Given the description of an element on the screen output the (x, y) to click on. 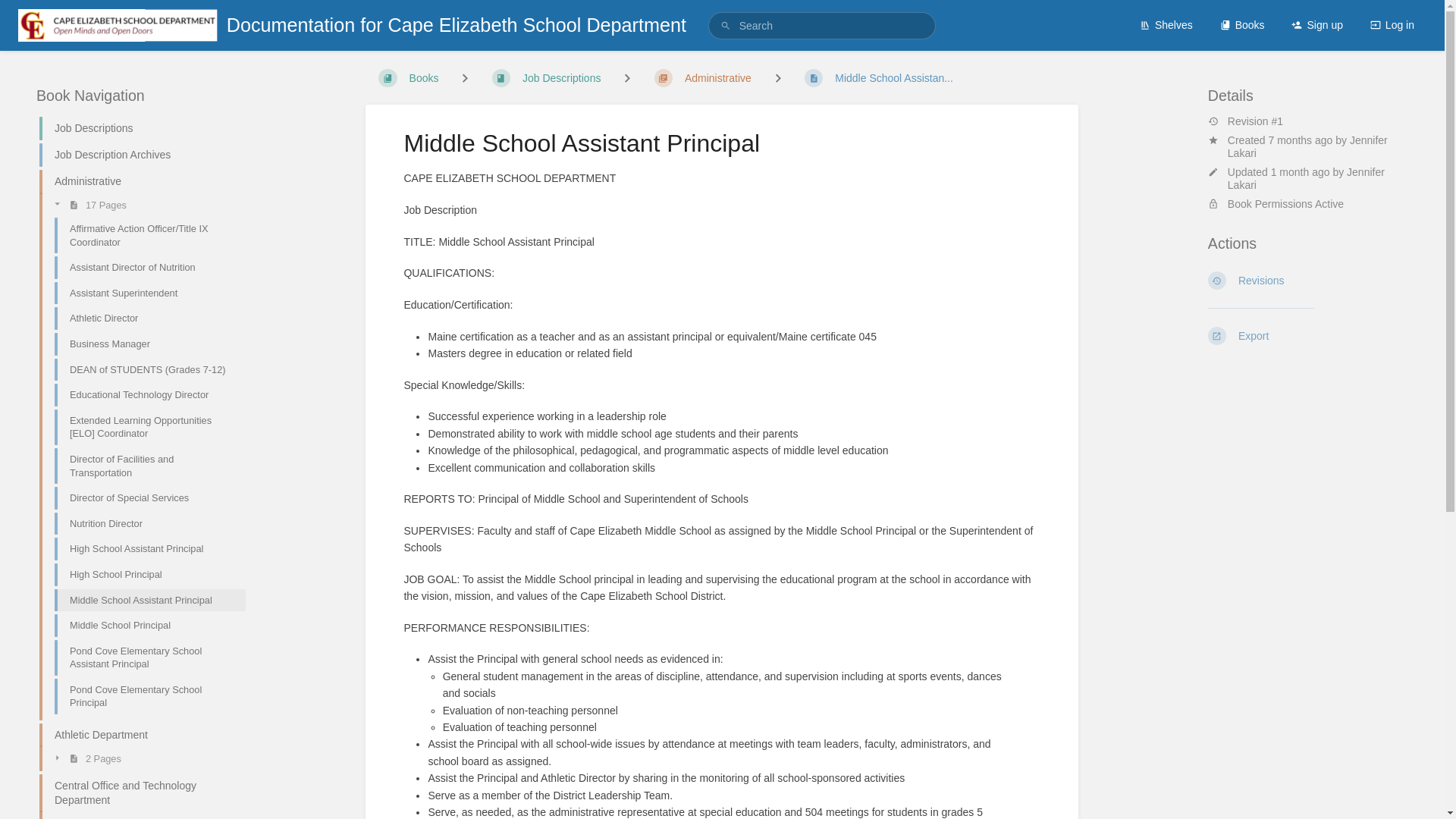
Central Office and Technology Department (136, 793)
Director of Special Services (144, 498)
Documentation for Cape Elizabeth School Department (351, 24)
Assistant Director of Nutrition (144, 267)
Pond Cove Elementary School Assistant Principal (144, 657)
Shelves (1165, 24)
Job Descriptions (136, 128)
2 Pages (144, 758)
Educational Technology Director (144, 394)
13 Pages (144, 816)
Sign up (1316, 24)
Nutrition Director (144, 524)
Middle School Principal (144, 625)
Wed, Dec 20, 2023 3:40 PM (1300, 140)
Athletic Director (144, 318)
